Given the description of an element on the screen output the (x, y) to click on. 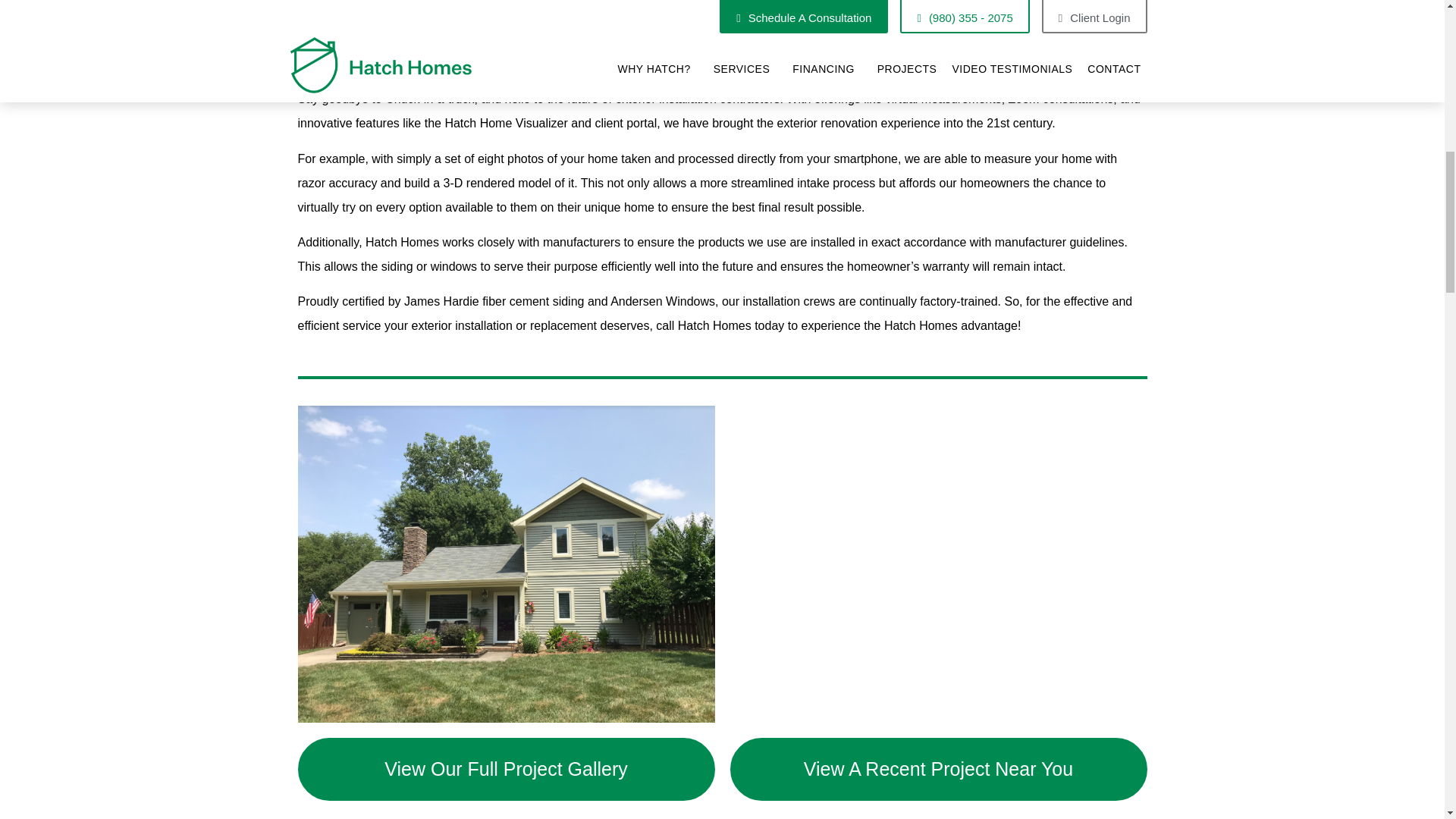
Raleigh, NC (938, 563)
